Given the description of an element on the screen output the (x, y) to click on. 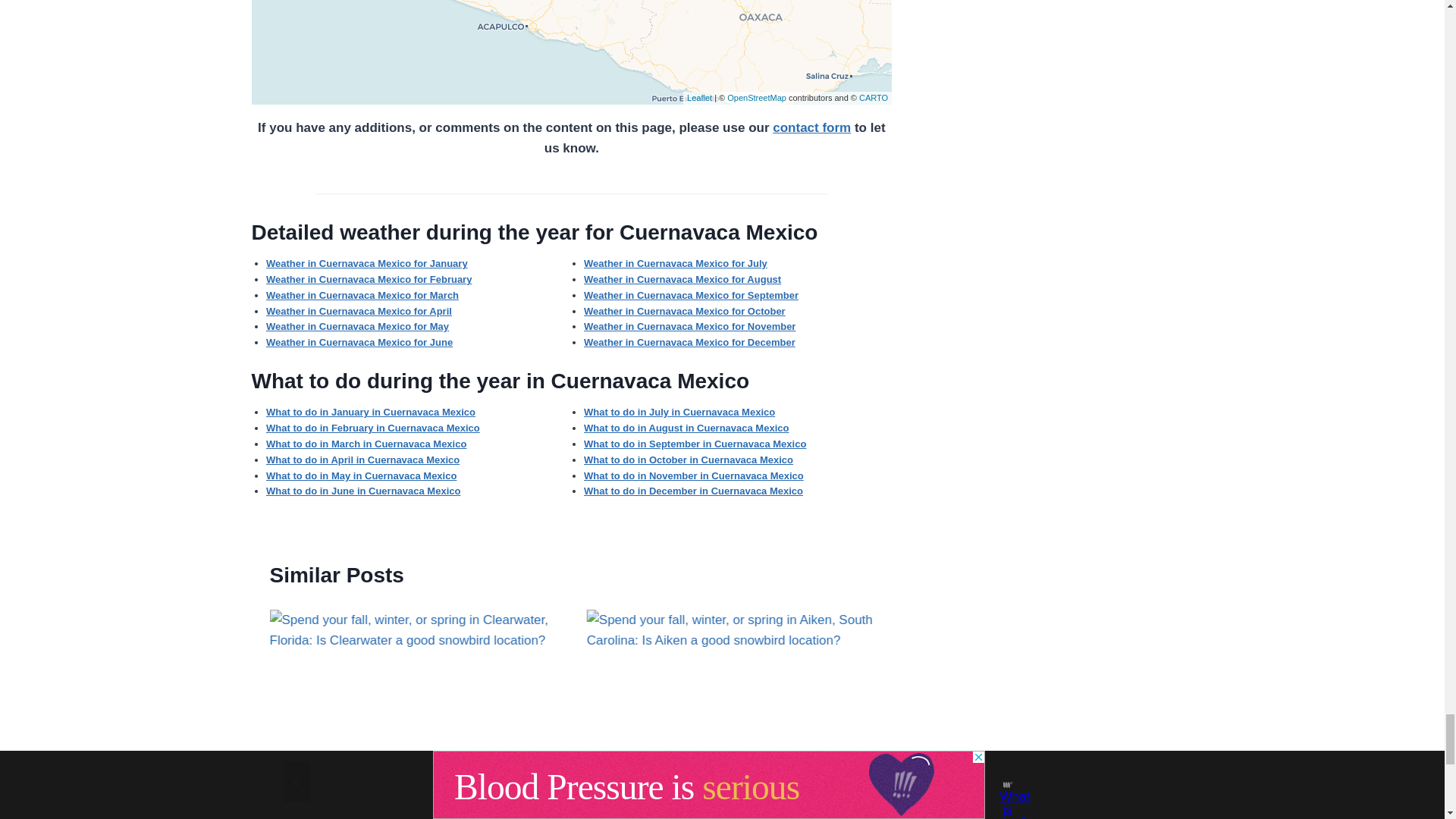
A JS library for interactive maps (699, 97)
